Given the description of an element on the screen output the (x, y) to click on. 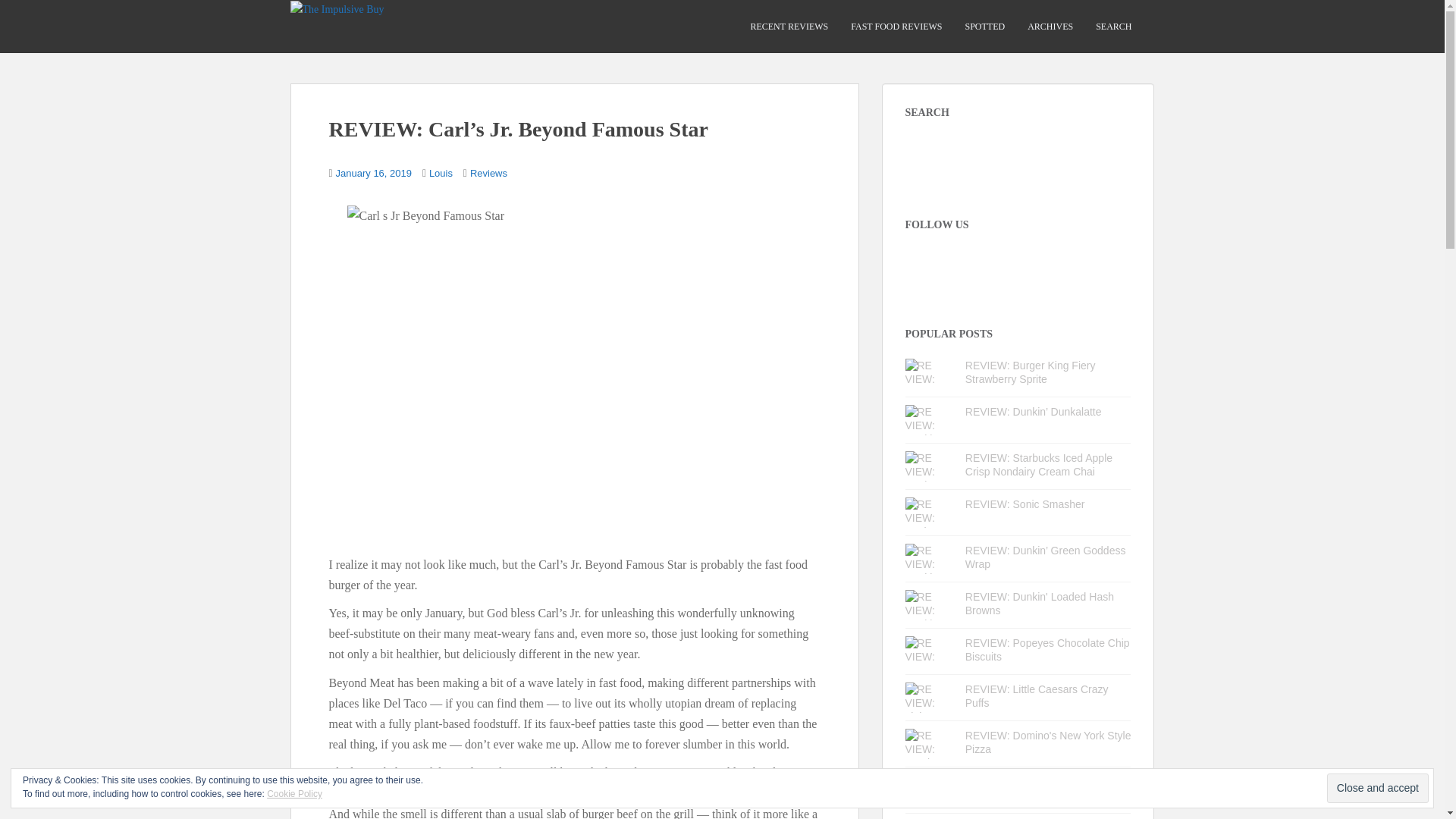
Louis (440, 173)
Close and accept (1377, 788)
REVIEW: Starbucks Iced Apple Crisp Nondairy Cream Chai (1038, 464)
FAST FOOD REVIEWS (896, 26)
RSS Feed (1053, 262)
REVIEW: Starbucks Iced Apple Crisp Nondairy Cream Chai (1038, 464)
Reviews (488, 173)
Facebook (943, 262)
YouTube (1025, 262)
January 16, 2019 (374, 173)
